Given the description of an element on the screen output the (x, y) to click on. 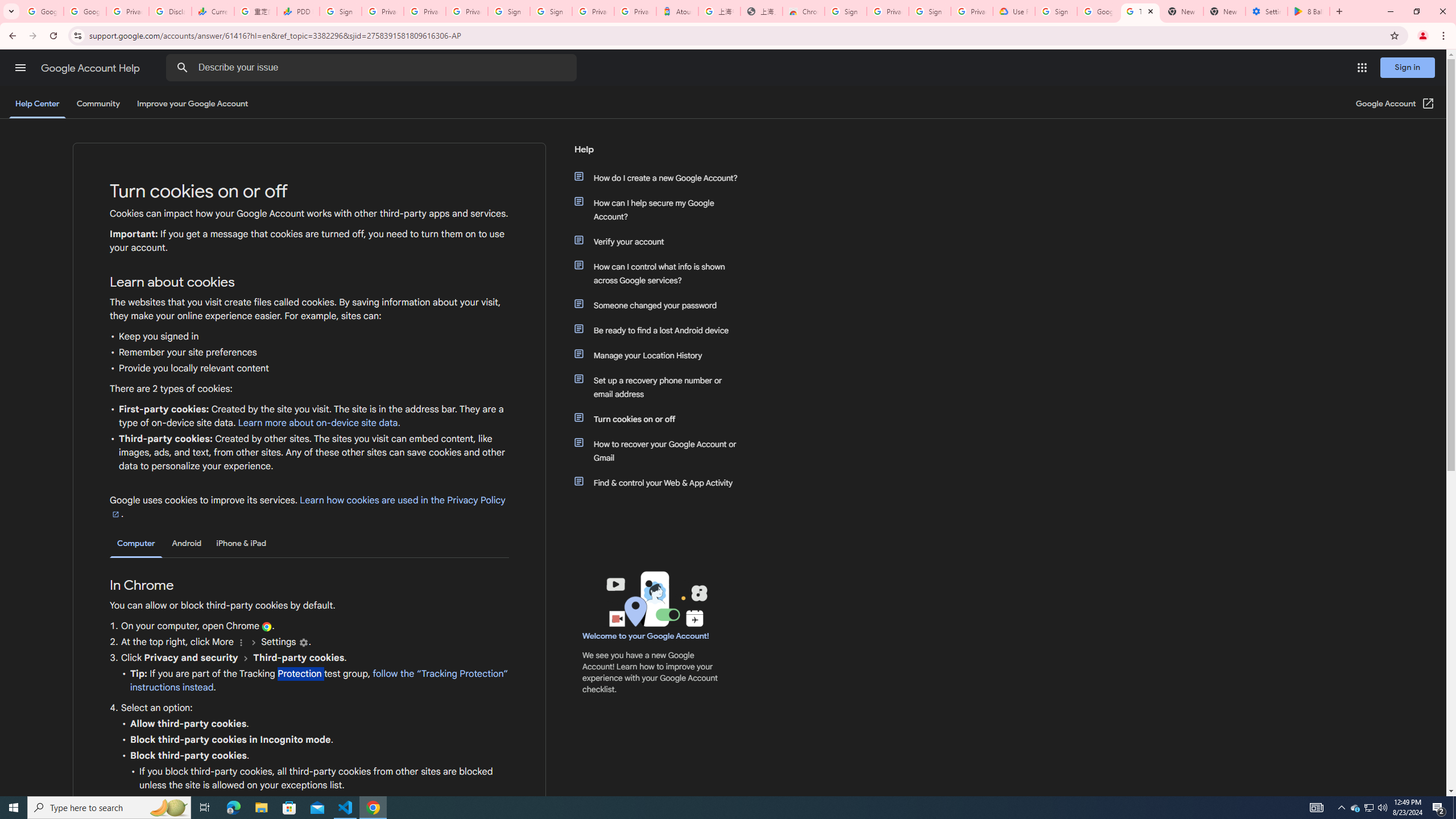
Google Workspace Admin Community (42, 11)
Settings - System (1266, 11)
How do I create a new Google Account? (661, 177)
